Given the description of an element on the screen output the (x, y) to click on. 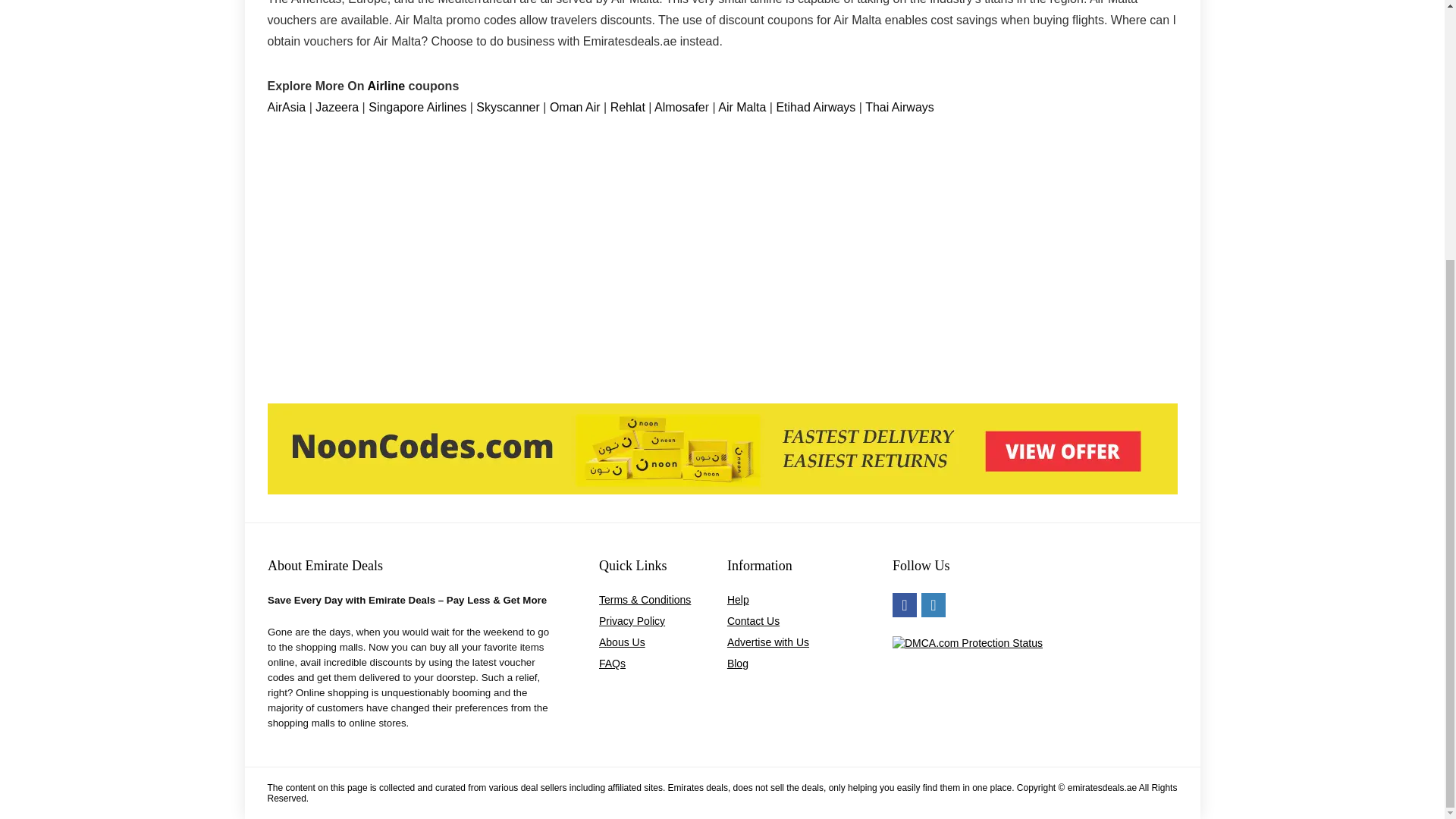
AirAsia (287, 106)
Jazeera (338, 106)
Skyscanner (508, 106)
Oman Air (577, 106)
Airline (386, 85)
Blog (737, 663)
Advertise with Us (767, 642)
DMCA.com Protection Status (967, 643)
Contact Us (752, 621)
Instagramm (932, 604)
Almosafe (678, 106)
FAQs (612, 663)
Rehlat (629, 106)
Thai Airways (899, 106)
Air Malta (741, 106)
